Given the description of an element on the screen output the (x, y) to click on. 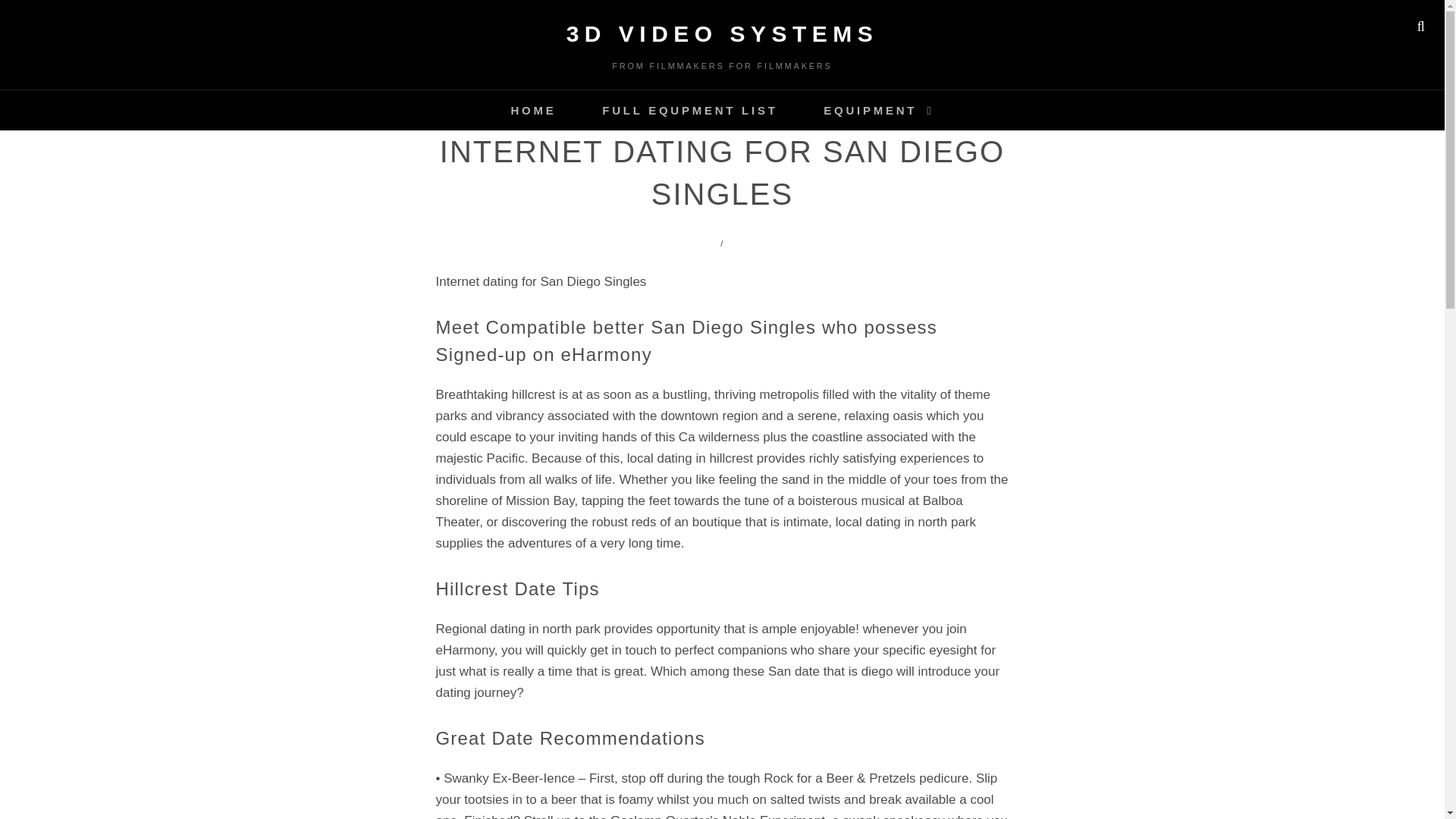
EQUIPMENT (878, 110)
HOME (532, 110)
3D VIDEO SYSTEMS (722, 33)
FULL EQUPMENT LIST (688, 110)
